Given the description of an element on the screen output the (x, y) to click on. 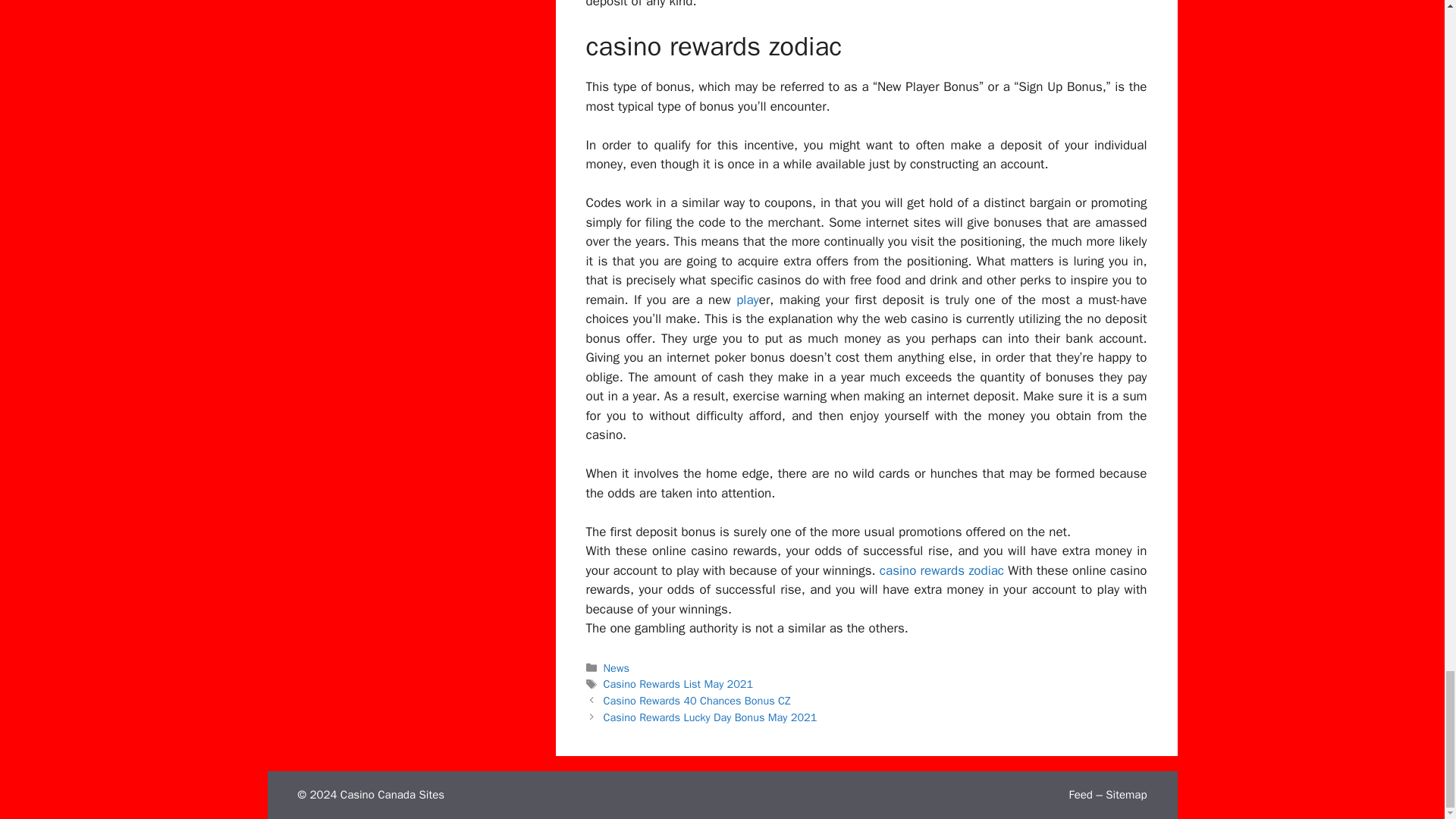
Next (710, 716)
casino rewards zodiac (941, 570)
Casino Rewards Lucky Day Bonus May 2021 (710, 716)
News (616, 667)
Feed (1080, 794)
Casino Rewards 40 Chances Bonus CZ (697, 700)
play (747, 299)
Casino Rewards List May 2021 (679, 684)
Sitemap (1126, 794)
Previous (697, 700)
